Given the description of an element on the screen output the (x, y) to click on. 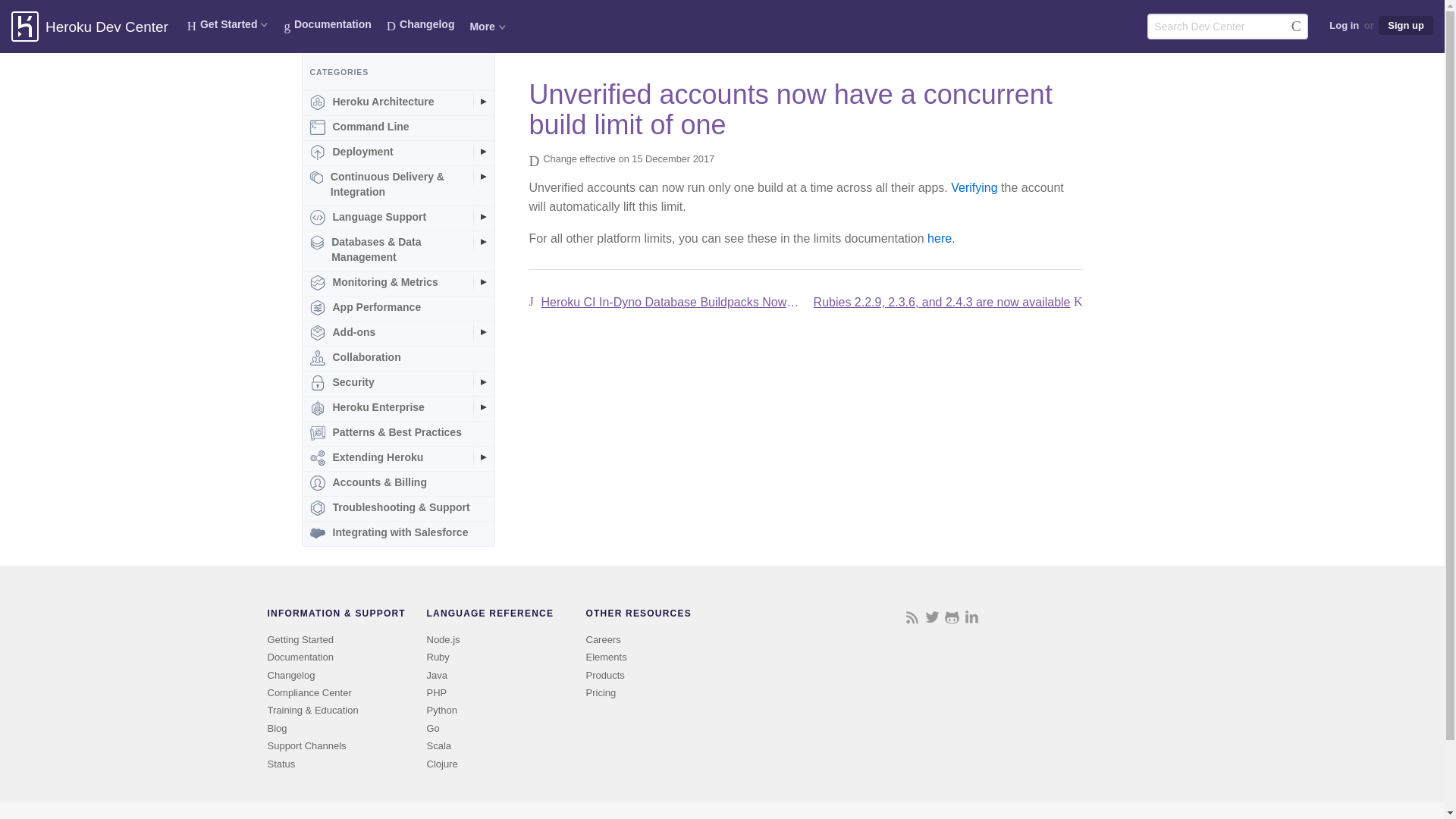
search (1227, 26)
Get Started (228, 24)
Documentation (327, 24)
Log in (1343, 25)
Heroku Dev Center (106, 27)
More (486, 25)
Changelog (420, 24)
Submit search (1295, 26)
Sign up (1405, 25)
Heroku Architecture (397, 102)
